Given the description of an element on the screen output the (x, y) to click on. 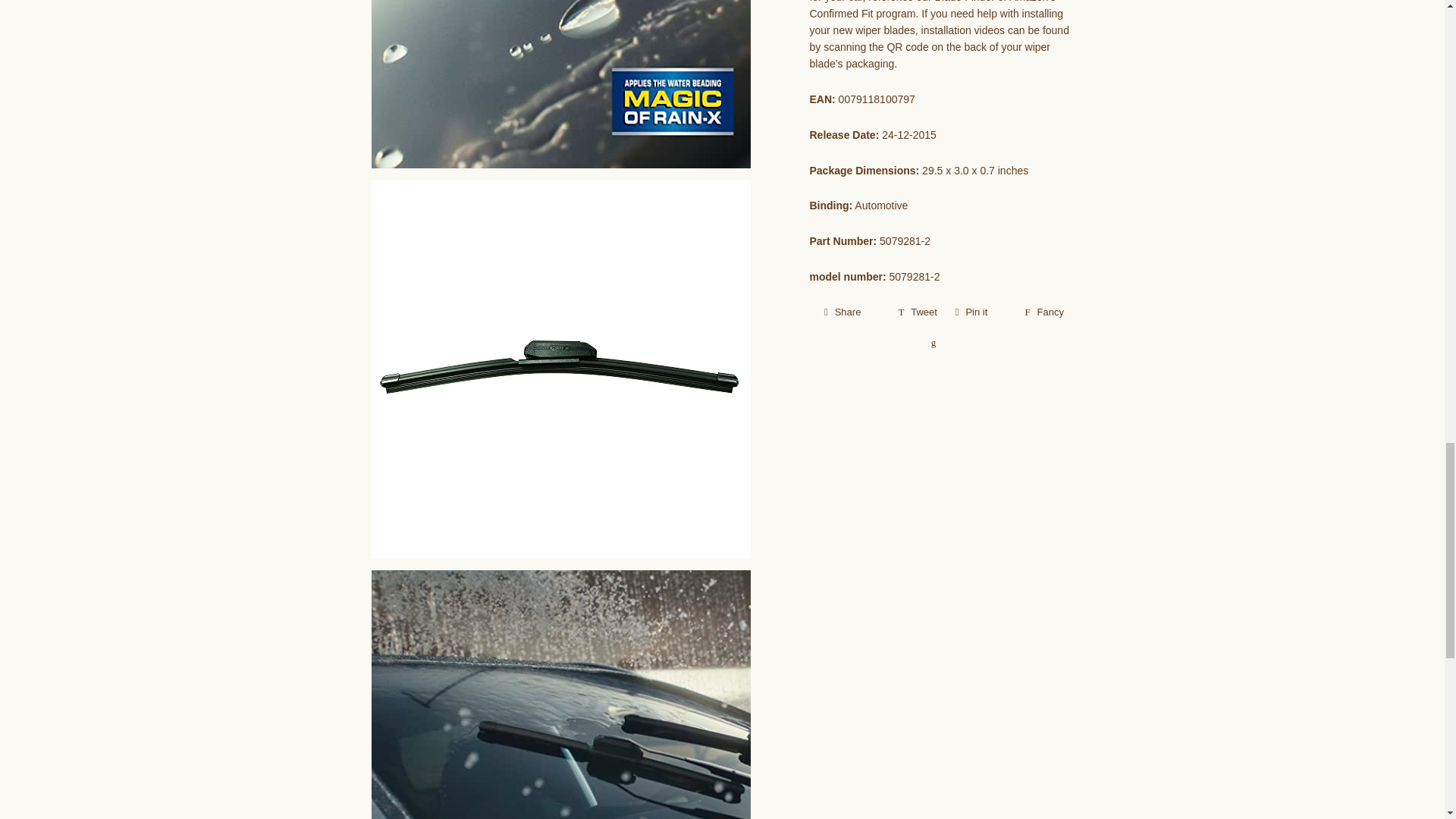
Tweet (916, 312)
Pin it (980, 312)
Share (851, 312)
